Given the description of an element on the screen output the (x, y) to click on. 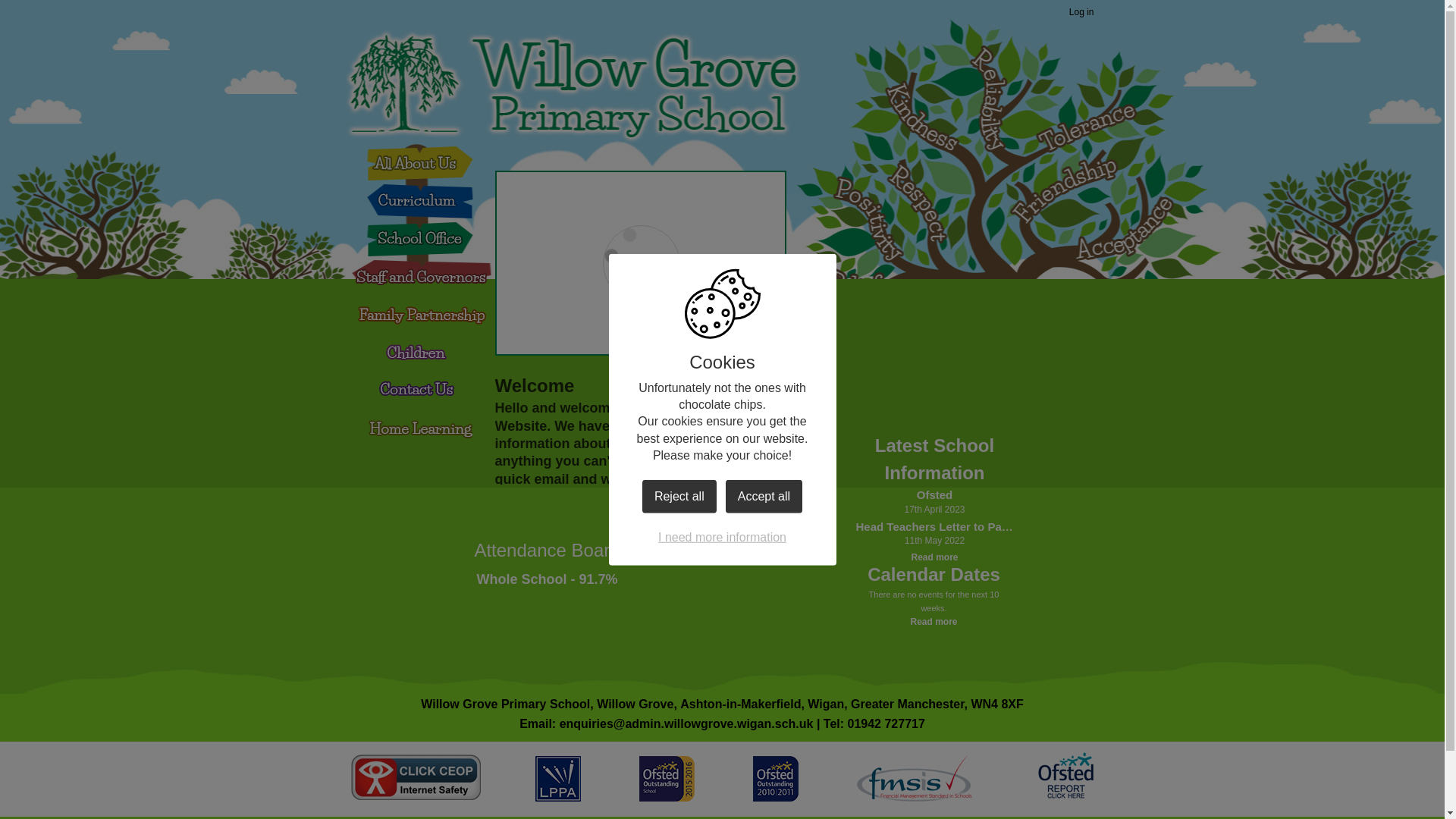
Ofsted (934, 495)
All About Us (418, 162)
Calendar Dates (934, 574)
Head Teachers Letter to Parents 11th May 2022 (934, 527)
Read more (934, 557)
Read more (934, 621)
Latest School Information (934, 459)
Curriculum (412, 206)
Log in (1081, 12)
